Given the description of an element on the screen output the (x, y) to click on. 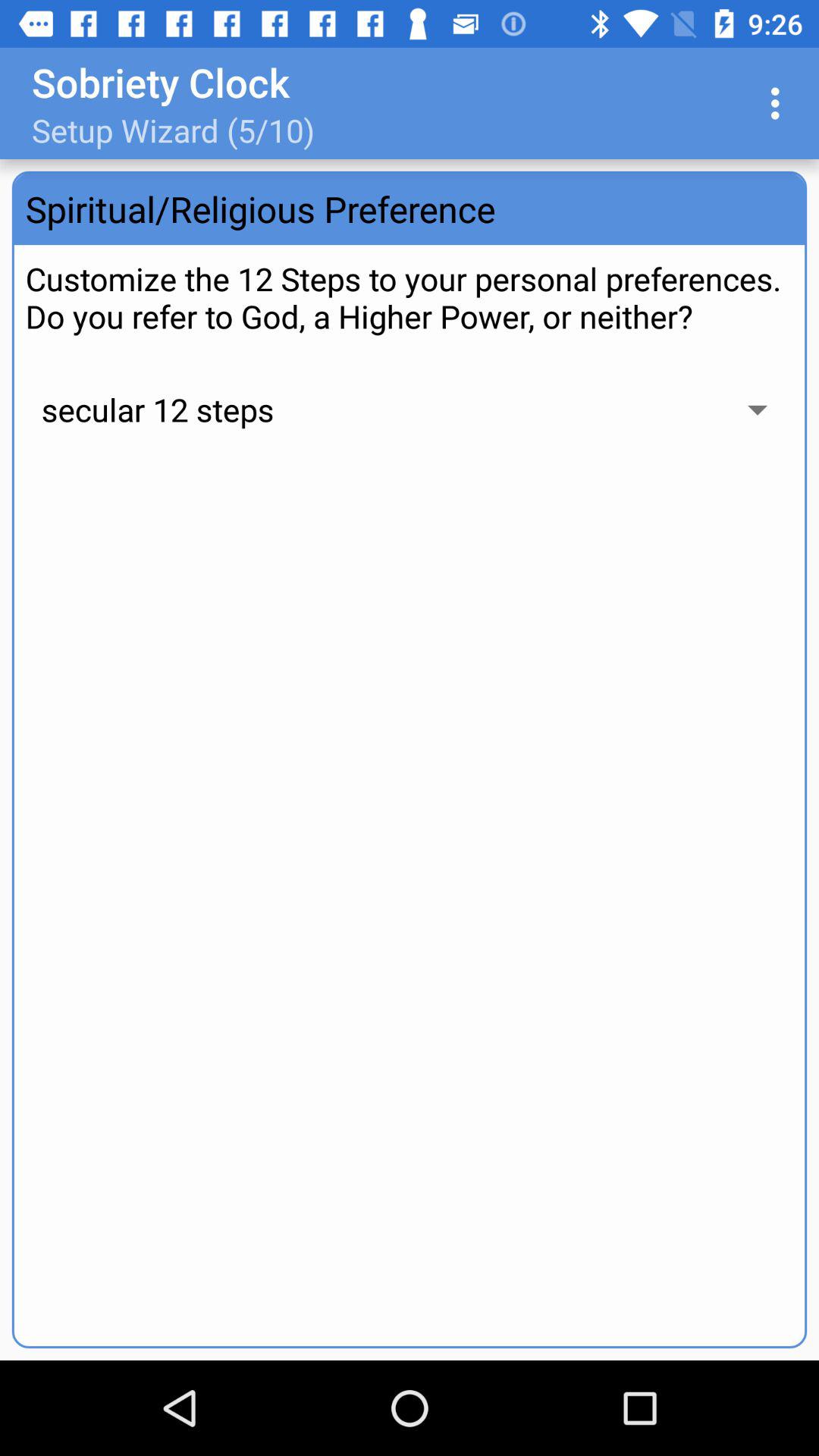
turn on item at the top right corner (779, 103)
